Given the description of an element on the screen output the (x, y) to click on. 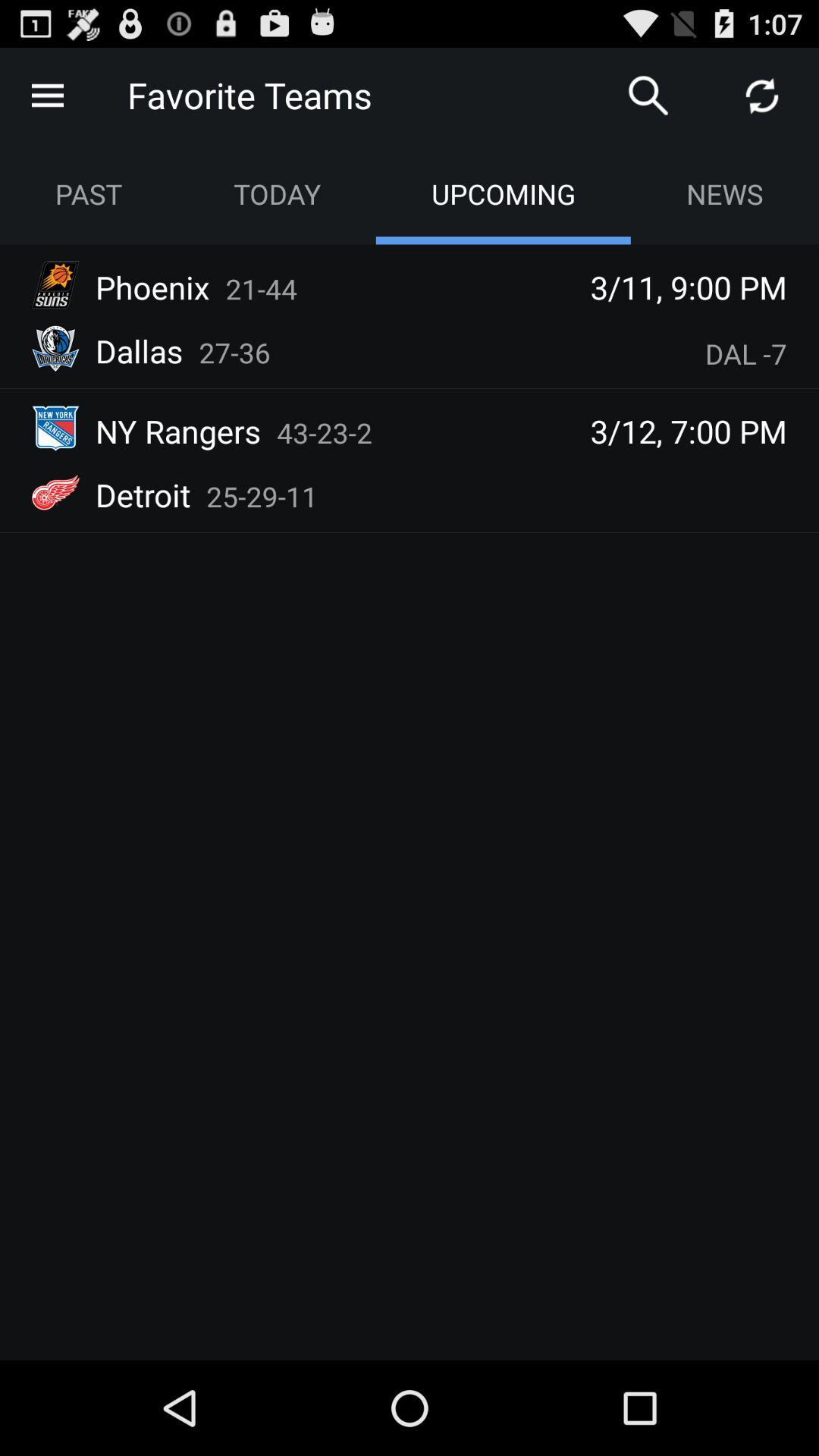
choose the icon next to the upcoming item (724, 193)
